Given the description of an element on the screen output the (x, y) to click on. 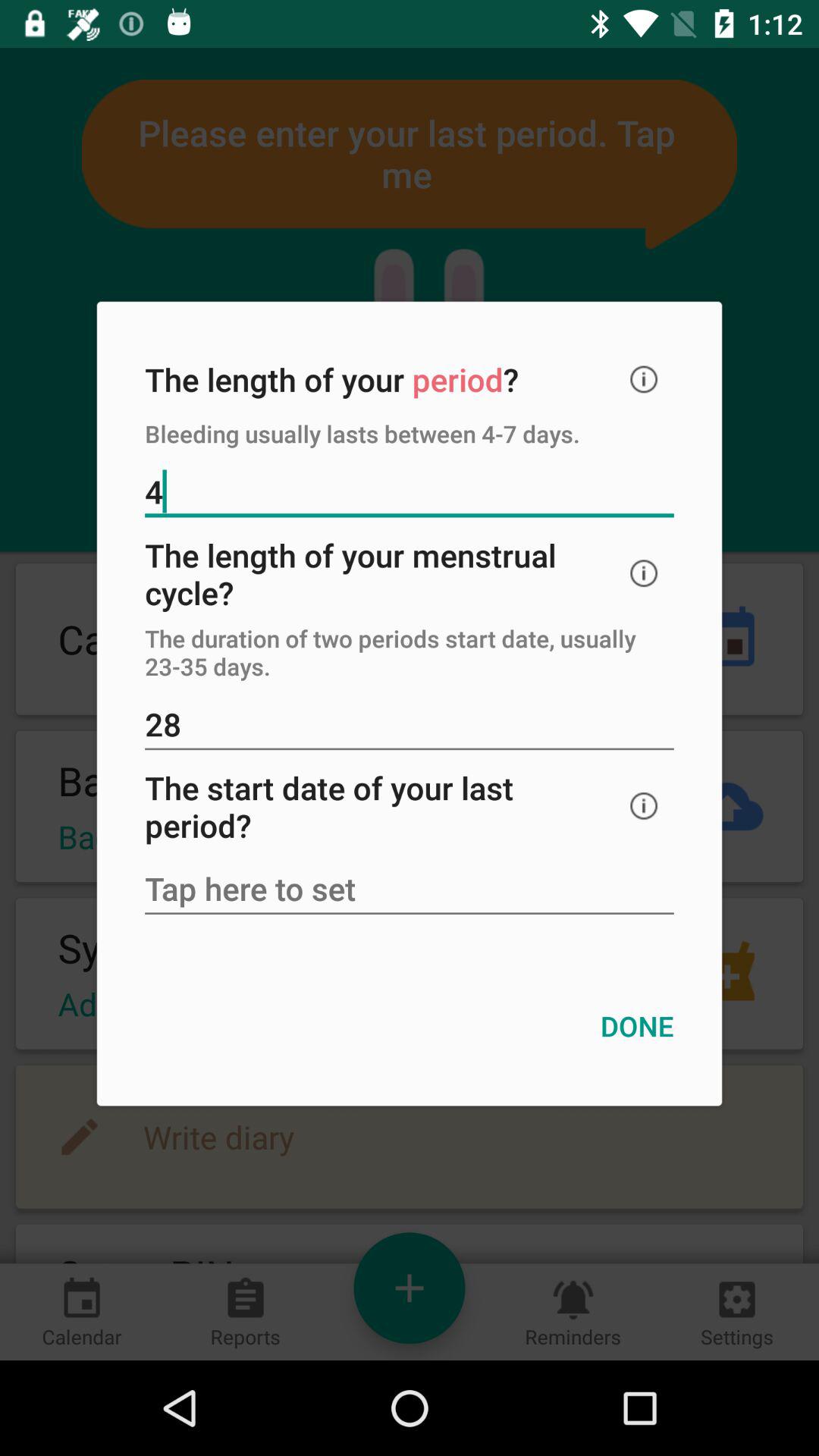
turn on the icon above the the duration of (643, 573)
